Given the description of an element on the screen output the (x, y) to click on. 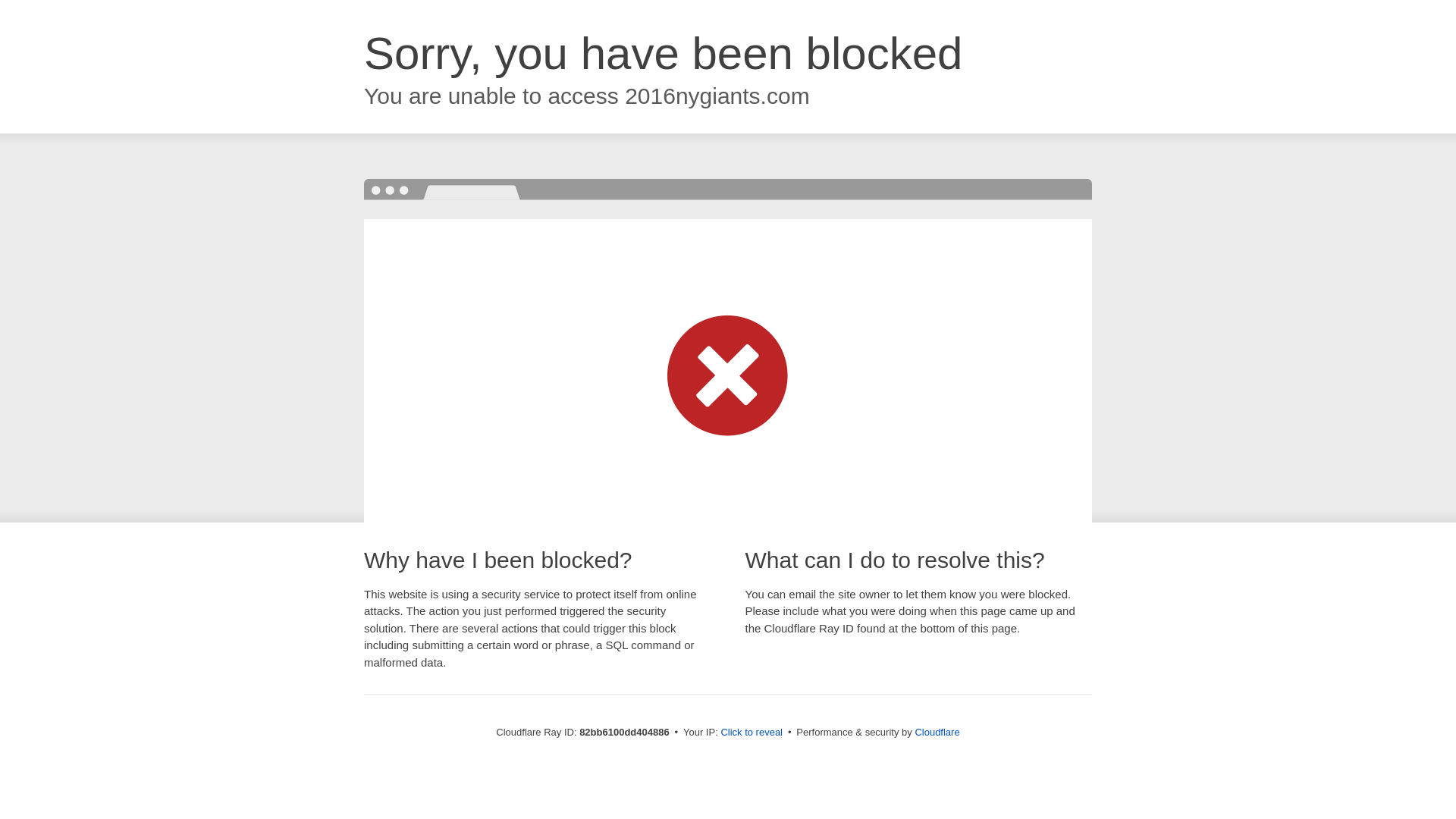
Cloudflare Element type: text (936, 731)
Click to reveal Element type: text (751, 732)
